Given the description of an element on the screen output the (x, y) to click on. 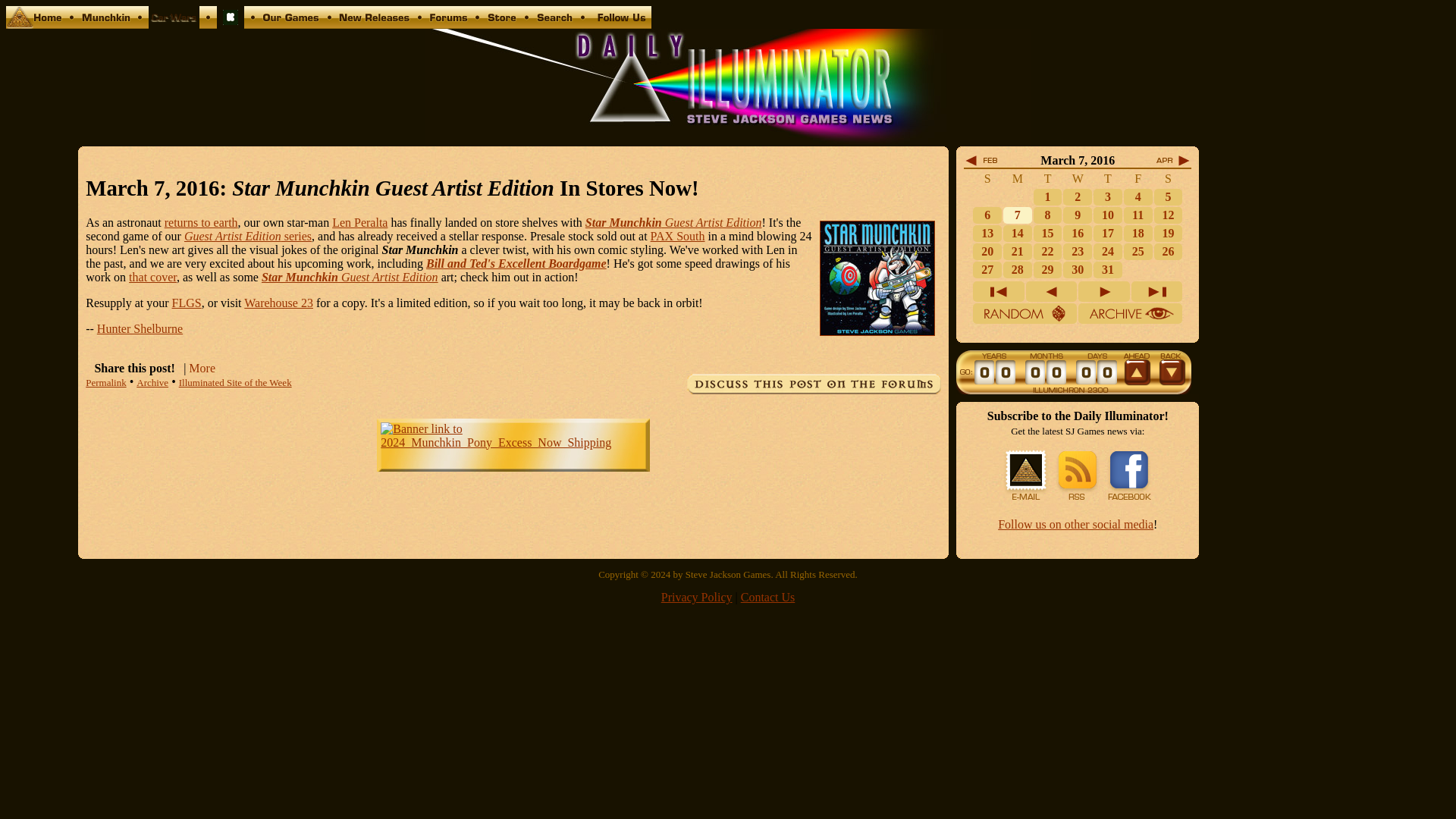
Munchkin (105, 24)
Hunter Shelburne (140, 328)
Warehouse 23 (278, 302)
Store (502, 24)
Car Wars (173, 24)
PAX South (677, 236)
that cover (152, 277)
Tabletop Adventures Sale For GM's Day! (1138, 196)
4 (1138, 196)
3 (1107, 196)
Get Ready For The End Times With GURPS! (1077, 196)
Car Wars Companion for Sixth Edition (230, 24)
Archive (152, 382)
Star Munchkin Guest Artist Edition (673, 222)
Our Games (291, 24)
